Given the description of an element on the screen output the (x, y) to click on. 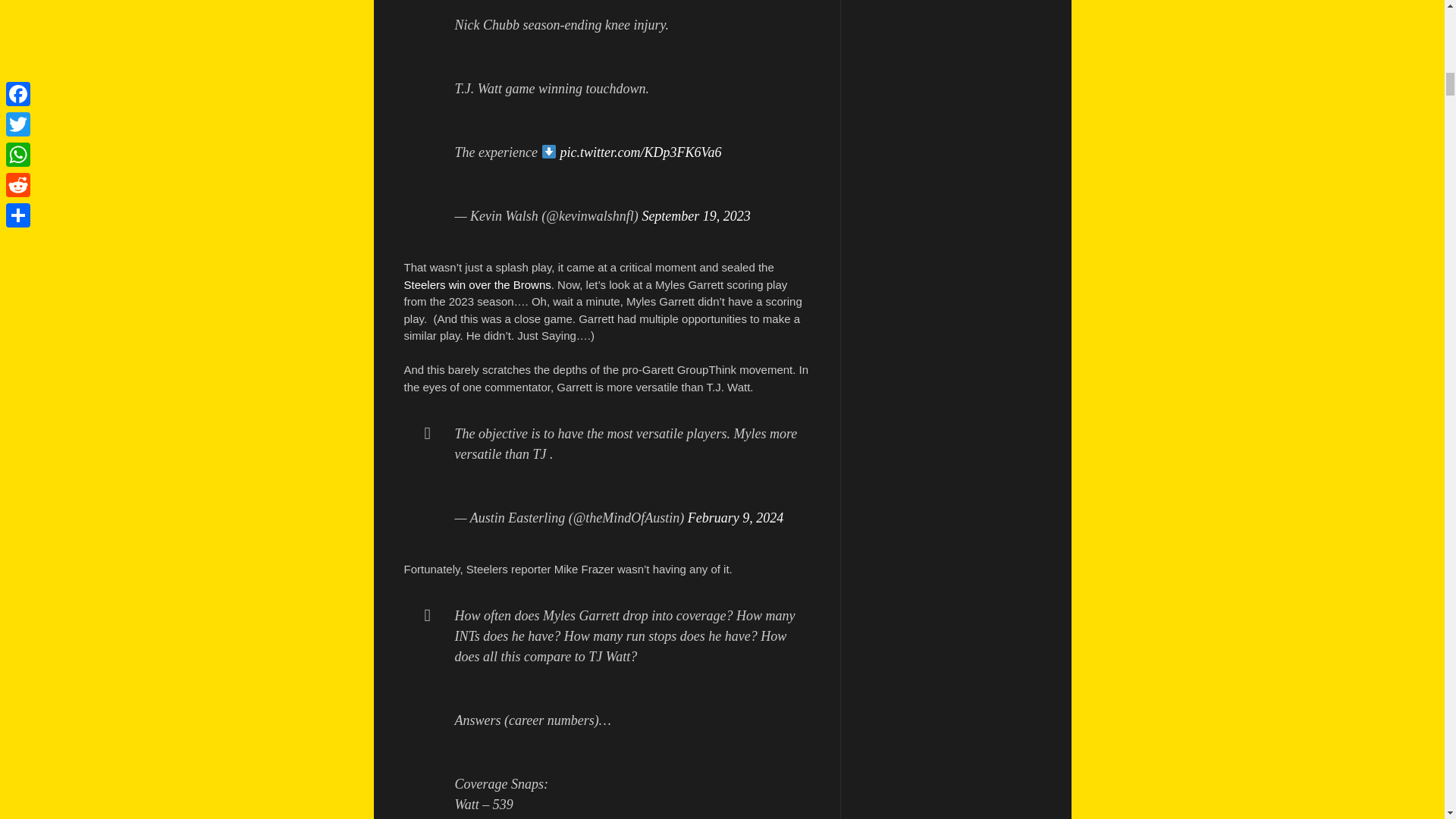
September 19, 2023 (695, 215)
Steelers win over the Browns (476, 284)
February 9, 2024 (735, 517)
